Given the description of an element on the screen output the (x, y) to click on. 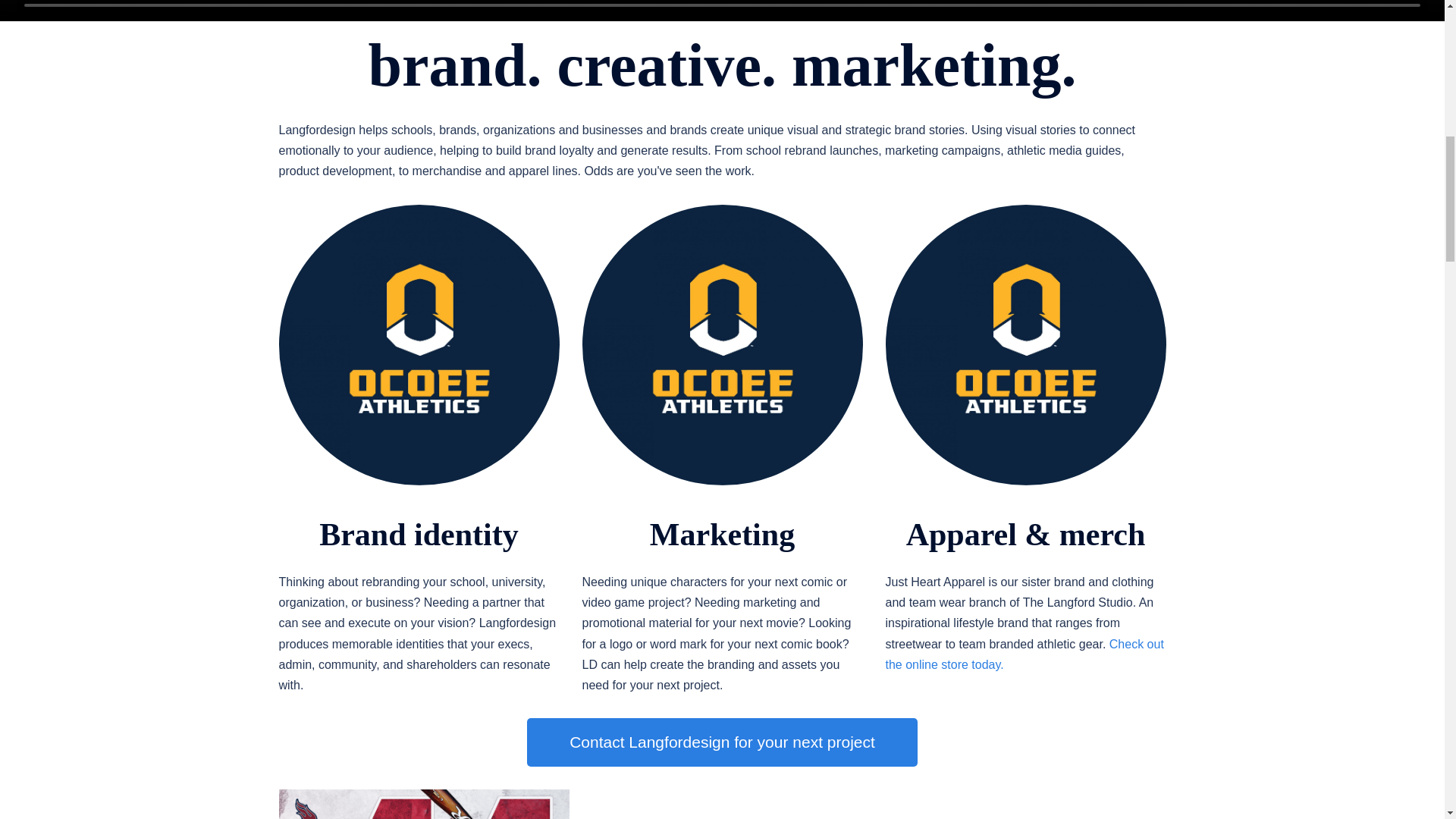
Just Heart Apparel (1025, 344)
Contact Langfordesign for your next project (722, 742)
Check out the online store today. (1024, 654)
Ocoee Athletics-04 (419, 344)
V3-Unlock-your-inner-beast-promo-2-graphic (722, 344)
Brand Project (722, 742)
